Given the description of an element on the screen output the (x, y) to click on. 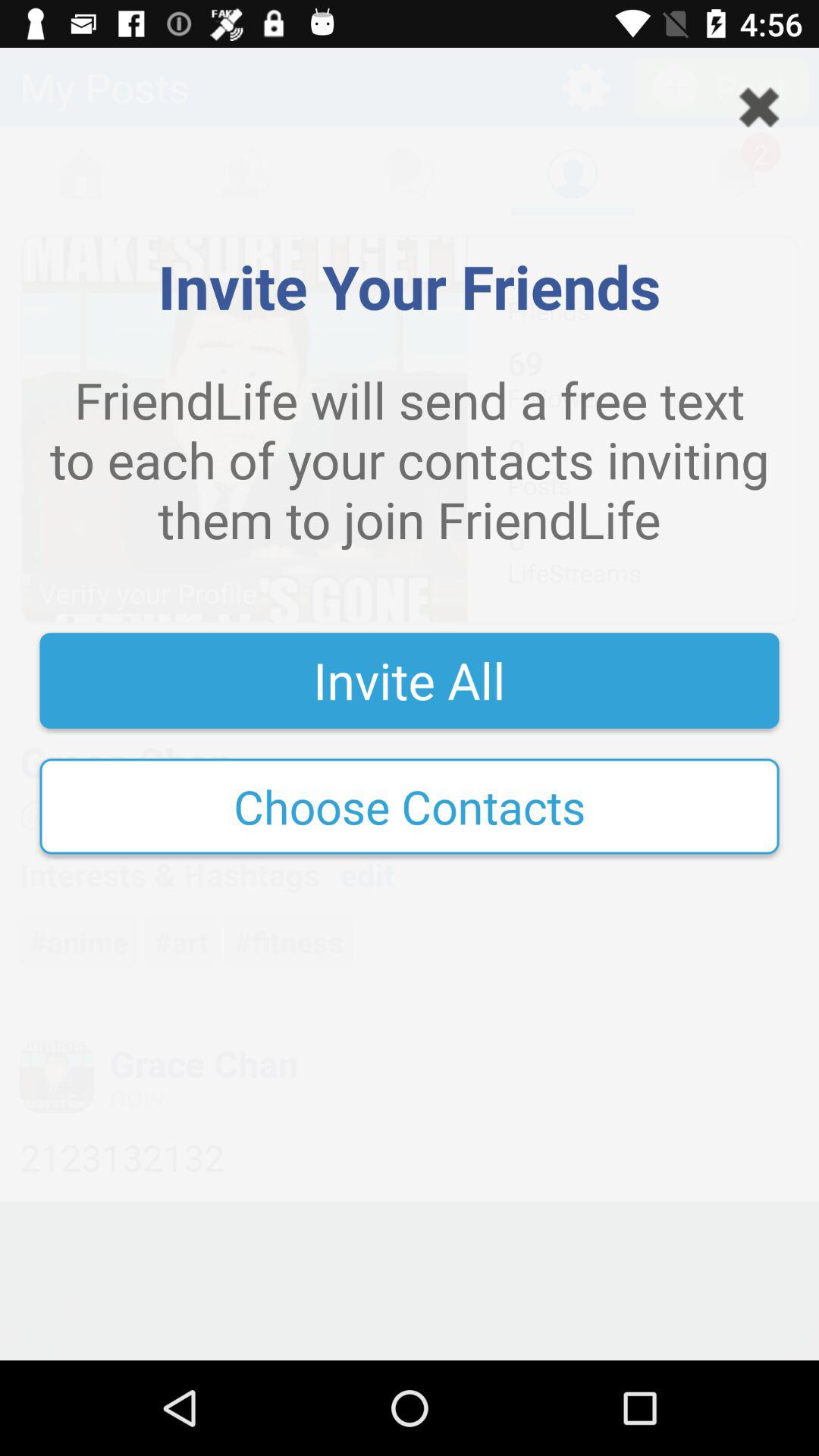
scroll to invite all (409, 680)
